Given the description of an element on the screen output the (x, y) to click on. 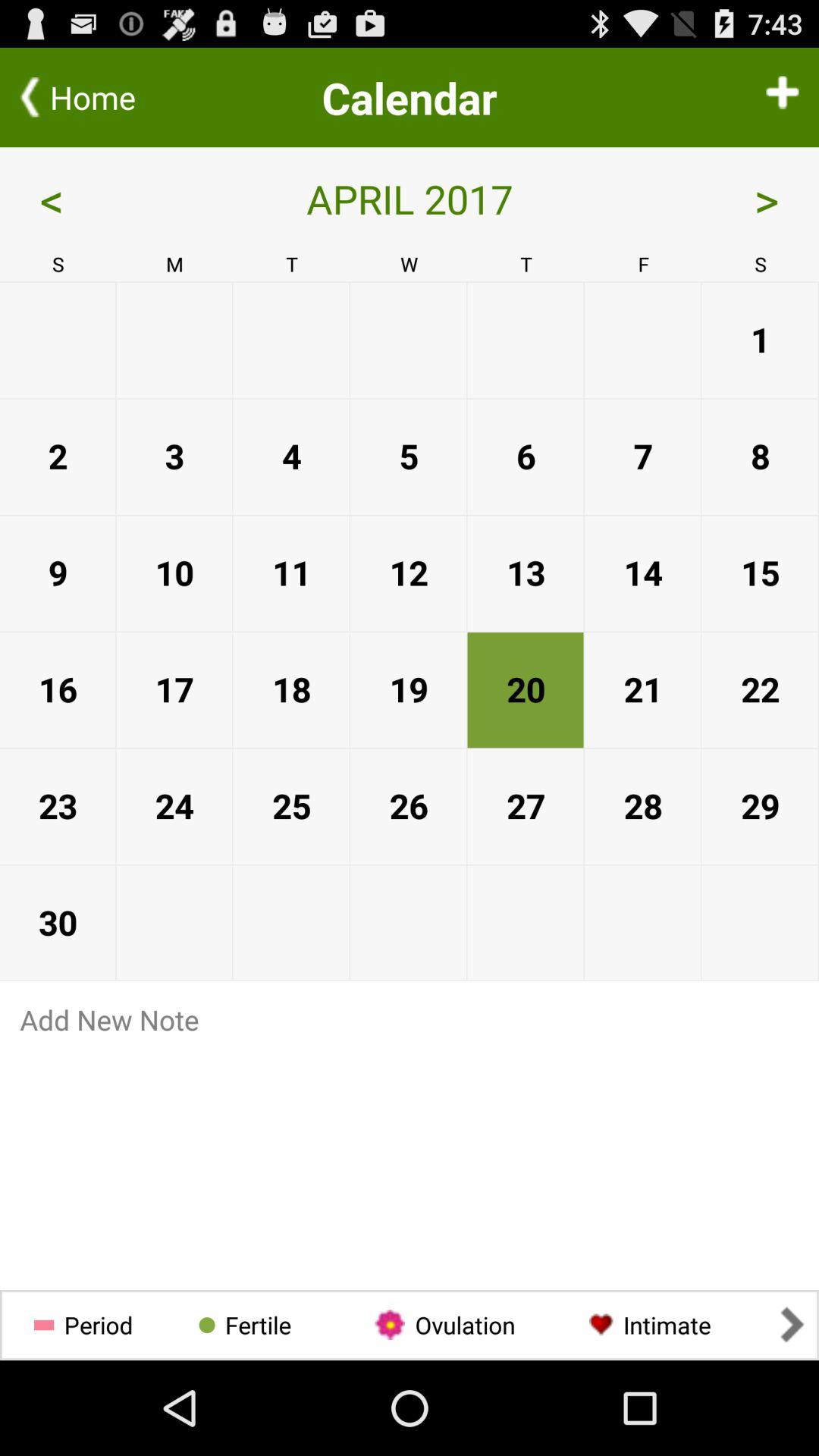
addition to calendar (782, 97)
